Given the description of an element on the screen output the (x, y) to click on. 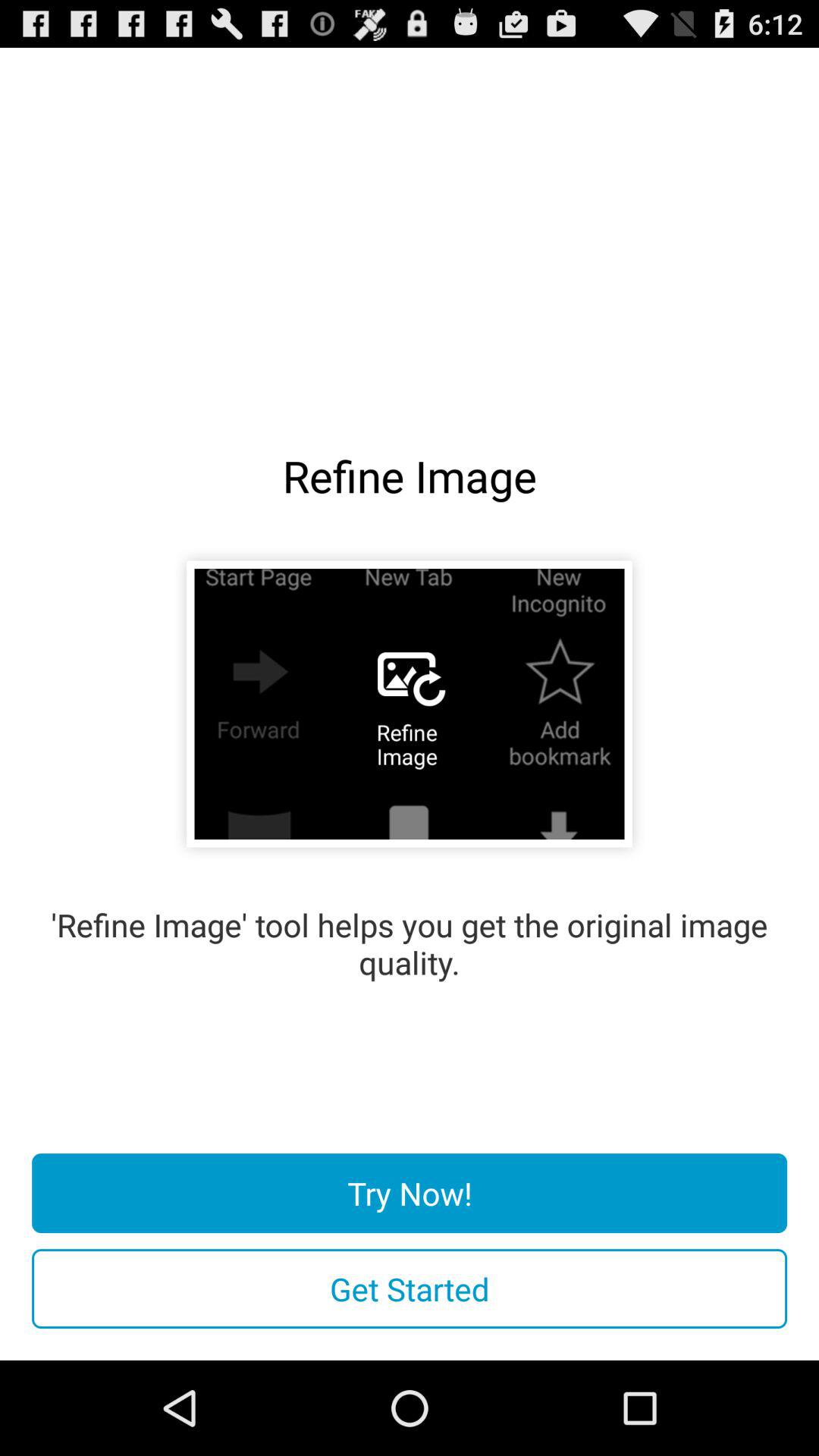
open the icon above get started button (409, 1193)
